Given the description of an element on the screen output the (x, y) to click on. 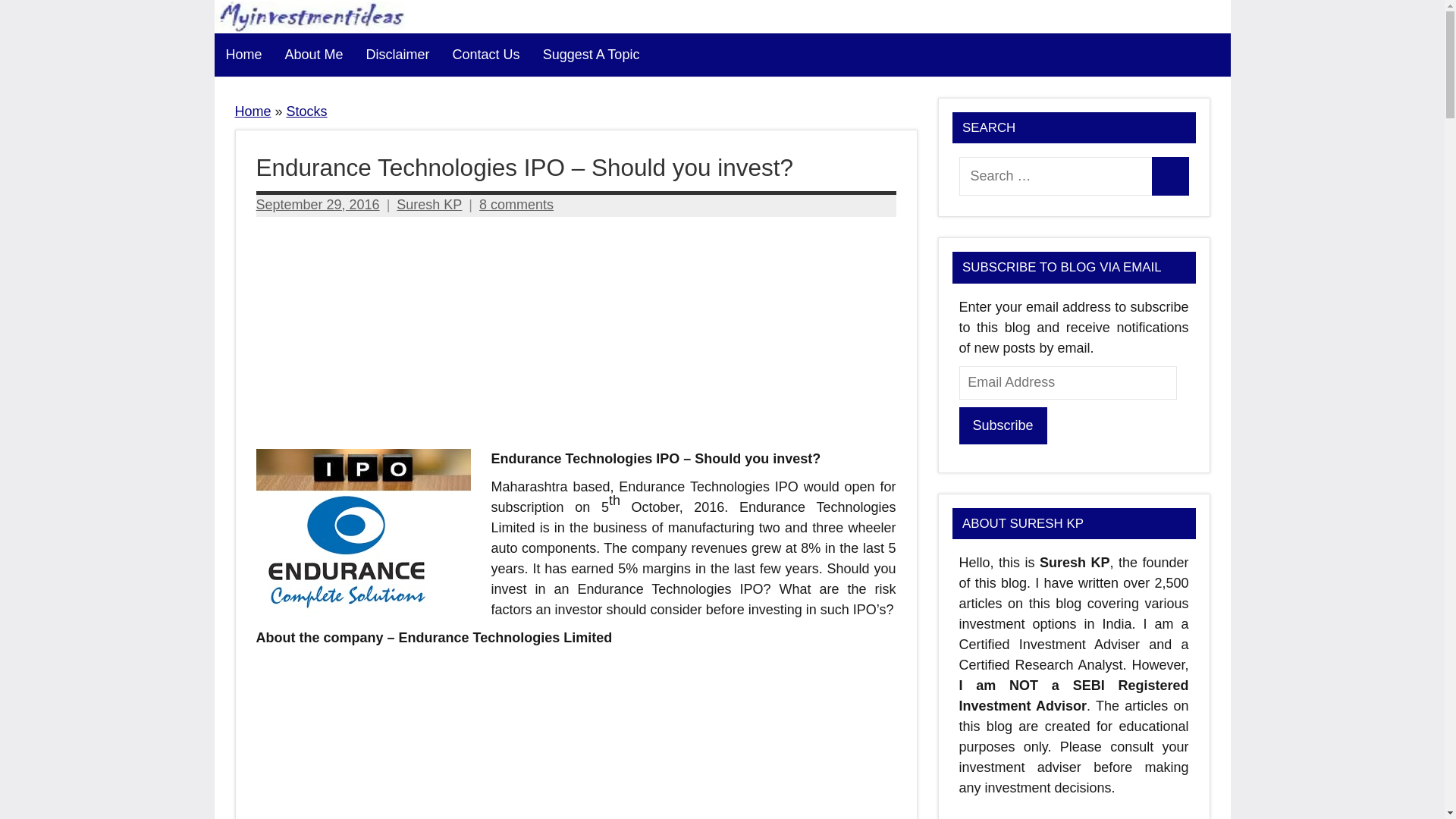
View all posts by Suresh KP (428, 204)
Suresh KP (428, 204)
Home (252, 111)
Advertisement (576, 737)
Stocks (306, 111)
8 comments (516, 204)
Contact Us (486, 54)
Home (243, 54)
Suggest A Topic (590, 54)
